Given the description of an element on the screen output the (x, y) to click on. 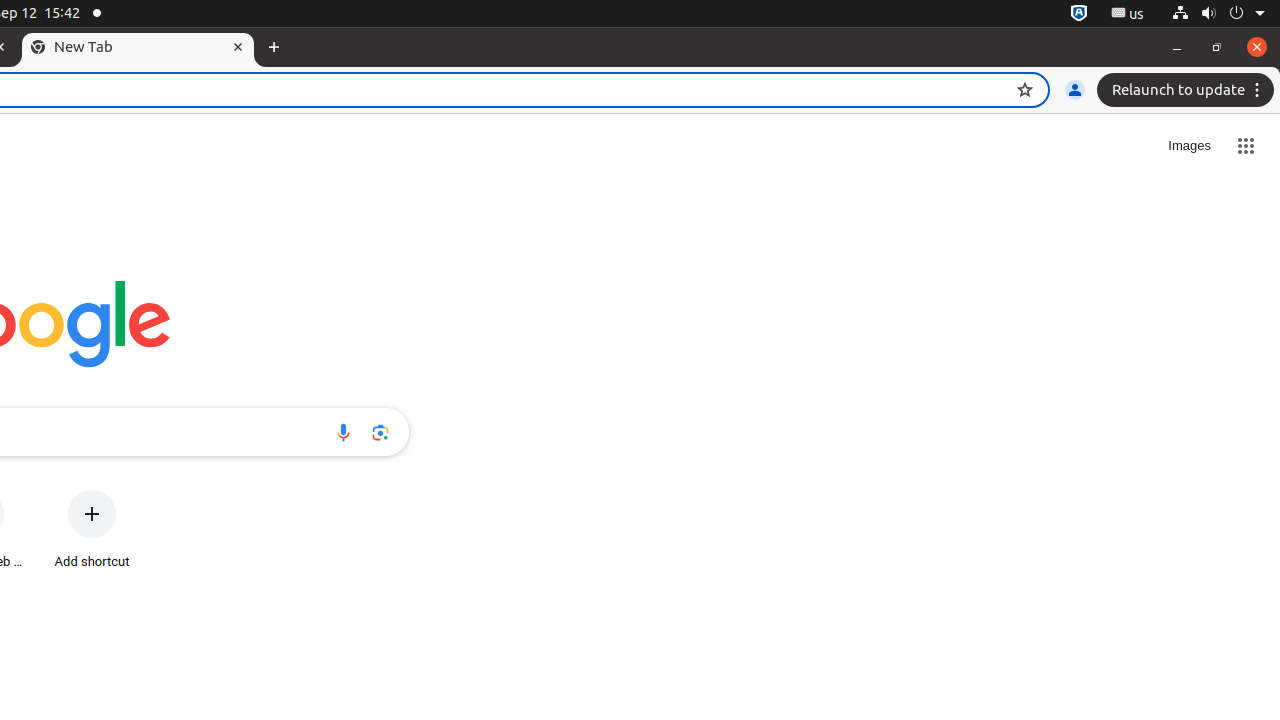
Add shortcut Element type: push-button (92, 530)
System Element type: menu (1218, 13)
:1.72/StatusNotifierItem Element type: menu (1079, 13)
Google apps Element type: push-button (1246, 145)
:1.21/StatusNotifierItem Element type: menu (1127, 13)
